Given the description of an element on the screen output the (x, y) to click on. 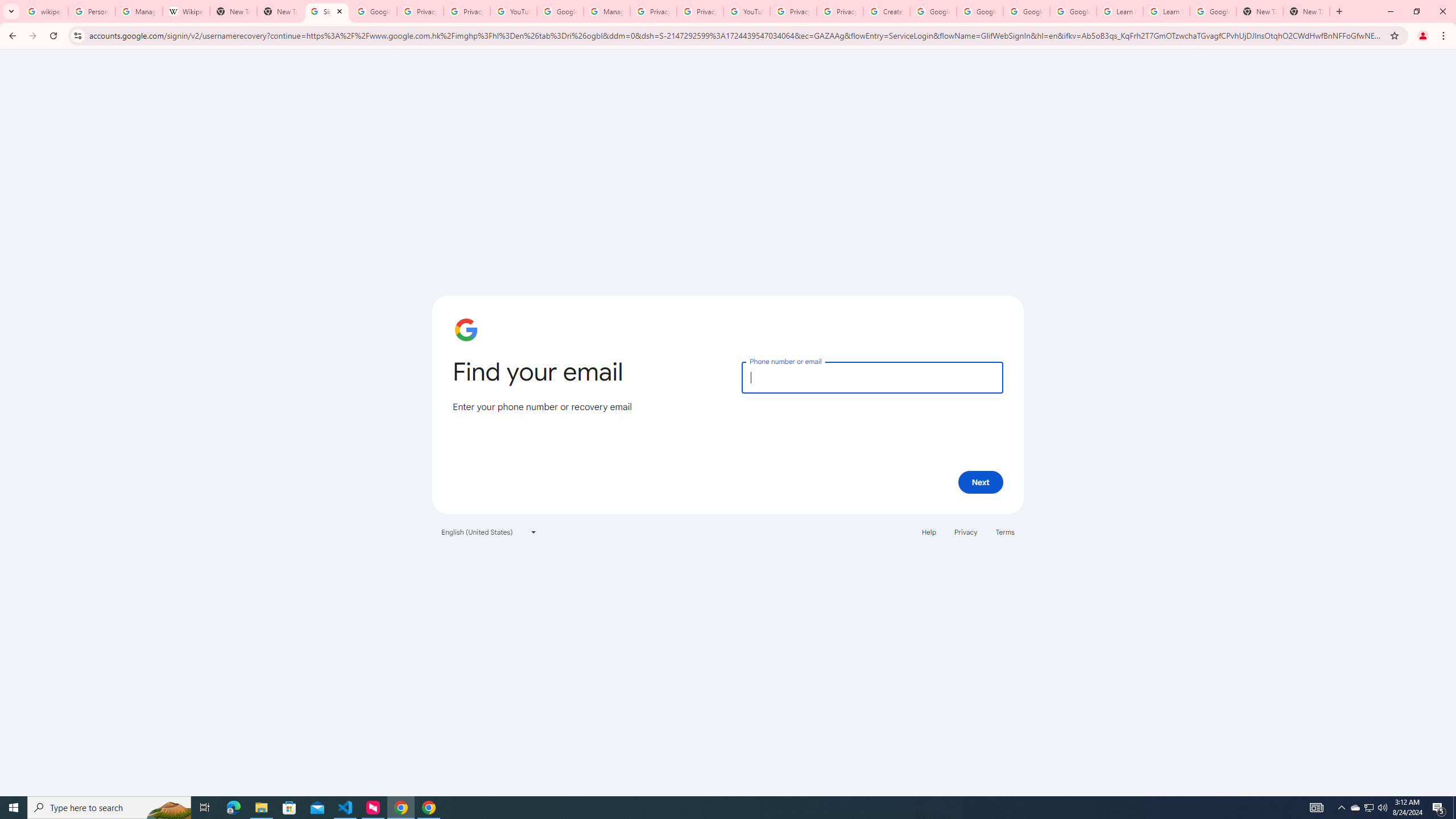
Sign in - Google Accounts (326, 11)
Google Drive: Sign-in (373, 11)
Phone number or email (871, 376)
Create your Google Account (886, 11)
New Tab (1259, 11)
Google Account Help (933, 11)
